Given the description of an element on the screen output the (x, y) to click on. 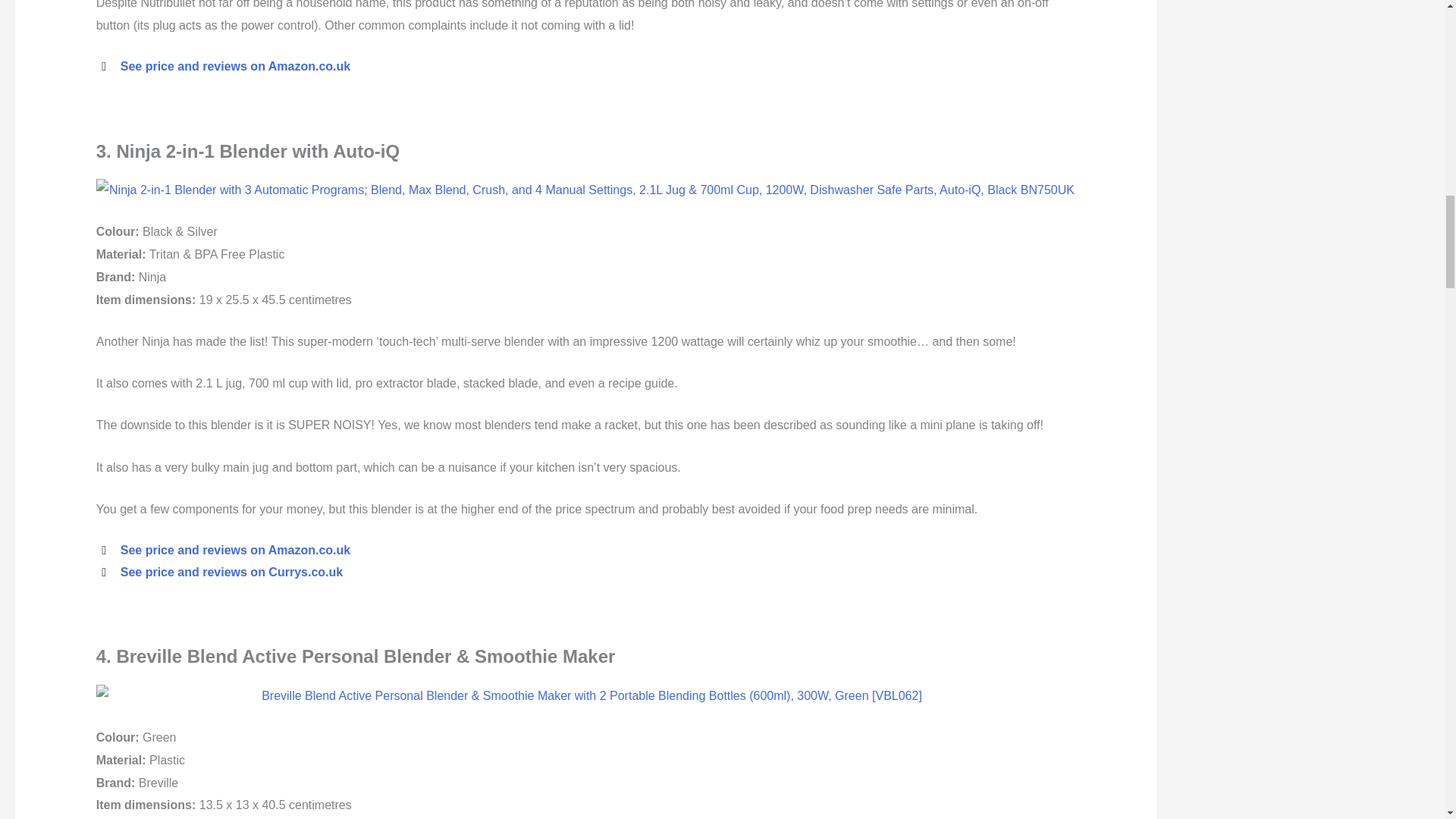
See price and reviews on Amazon.co.uk (235, 65)
See price and reviews on Currys.co.uk (231, 571)
See price and reviews on Amazon.co.uk (235, 549)
